Given the description of an element on the screen output the (x, y) to click on. 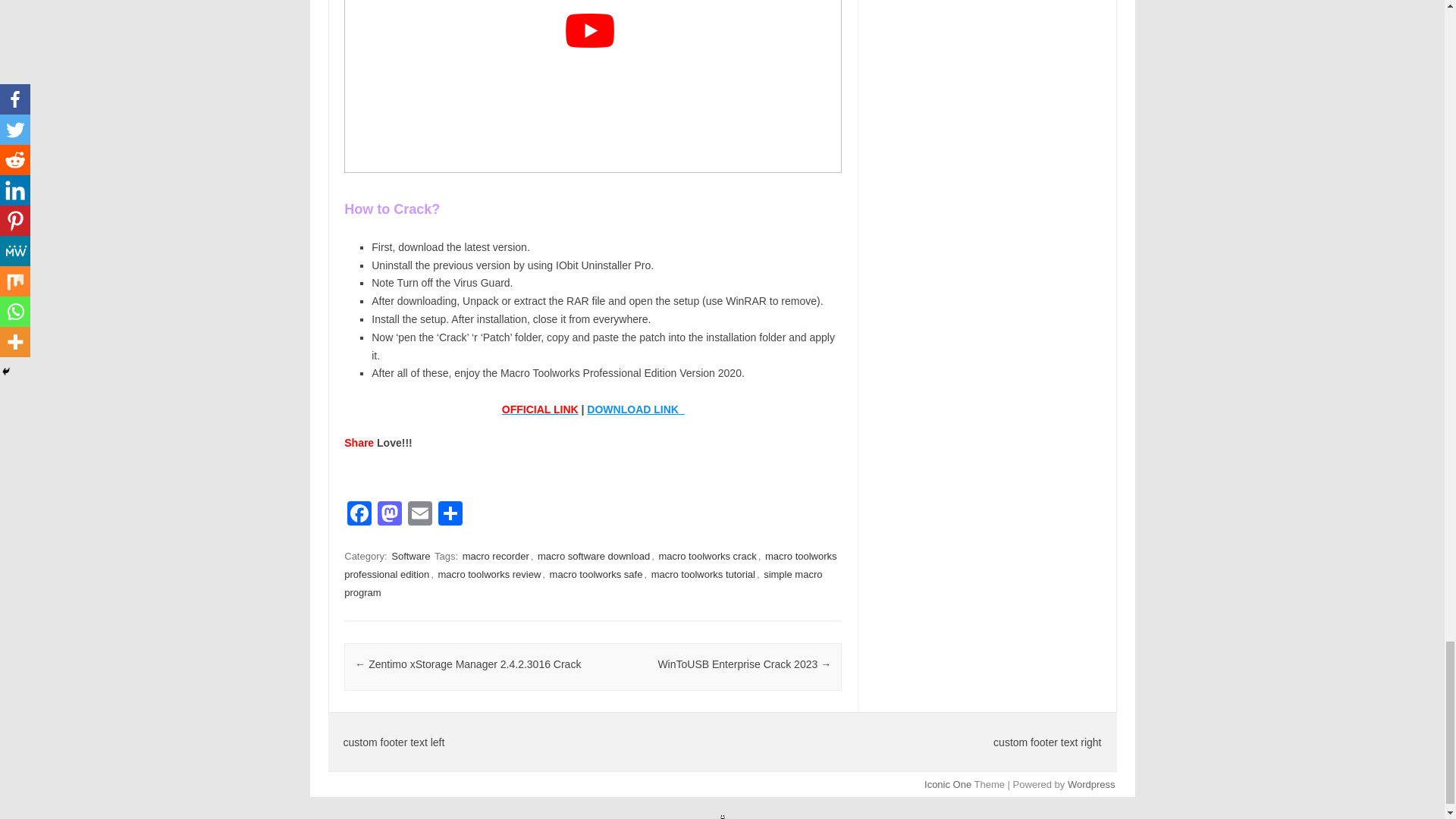
OFFICIAL LINK (540, 409)
Email (419, 515)
Mastodon (389, 515)
Email (419, 515)
Mastodon (389, 515)
Software (410, 555)
Facebook (358, 515)
Facebook (358, 515)
DOWNLOAD LINK   (635, 409)
